Given the description of an element on the screen output the (x, y) to click on. 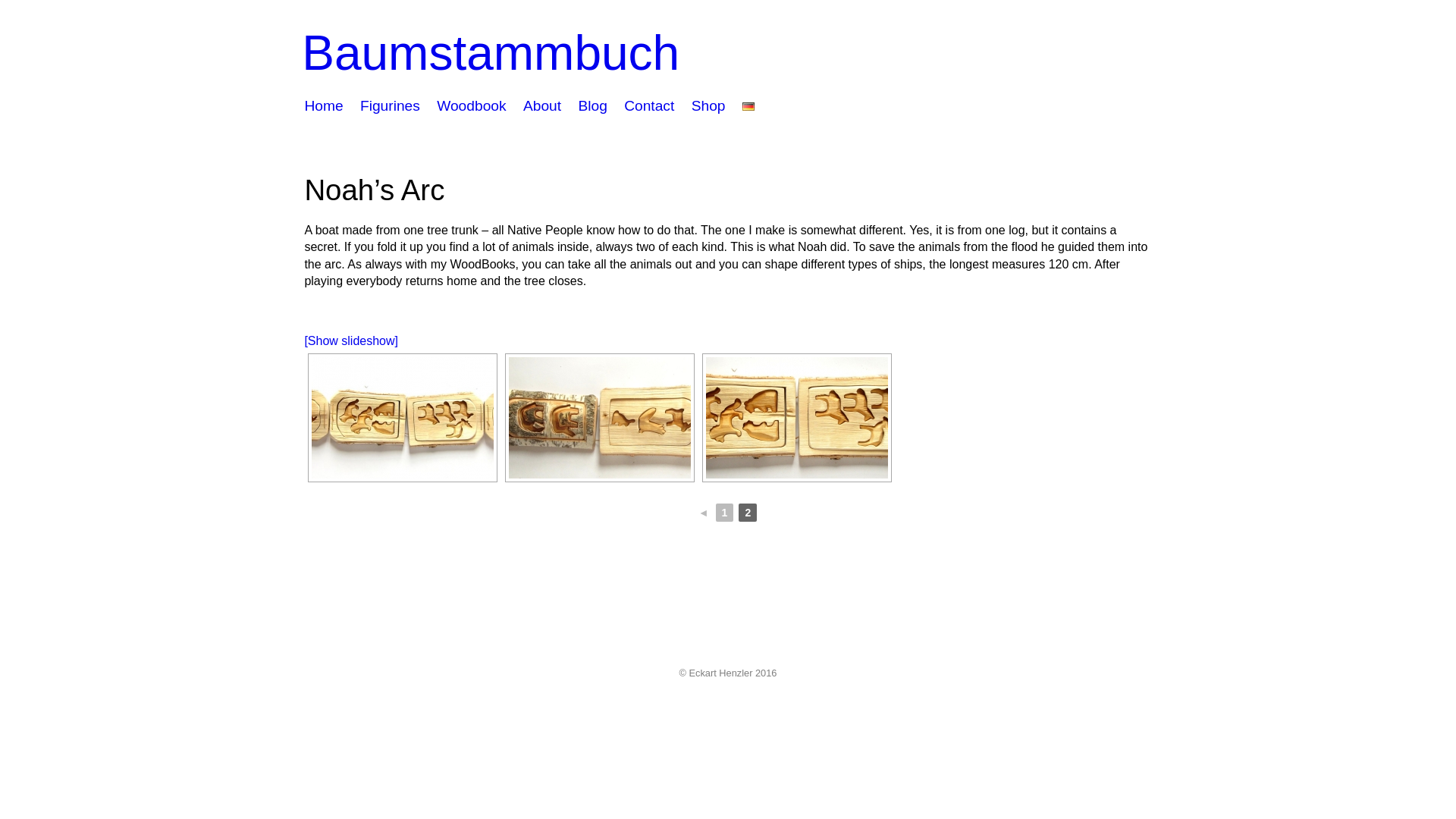
Home (323, 107)
1 (724, 512)
Baumstammbuch (490, 52)
Figurines (389, 107)
Baumstammbuch (490, 52)
Blog (592, 107)
Shop (708, 107)
About (541, 107)
Contact (649, 107)
Woodbook (470, 107)
